Given the description of an element on the screen output the (x, y) to click on. 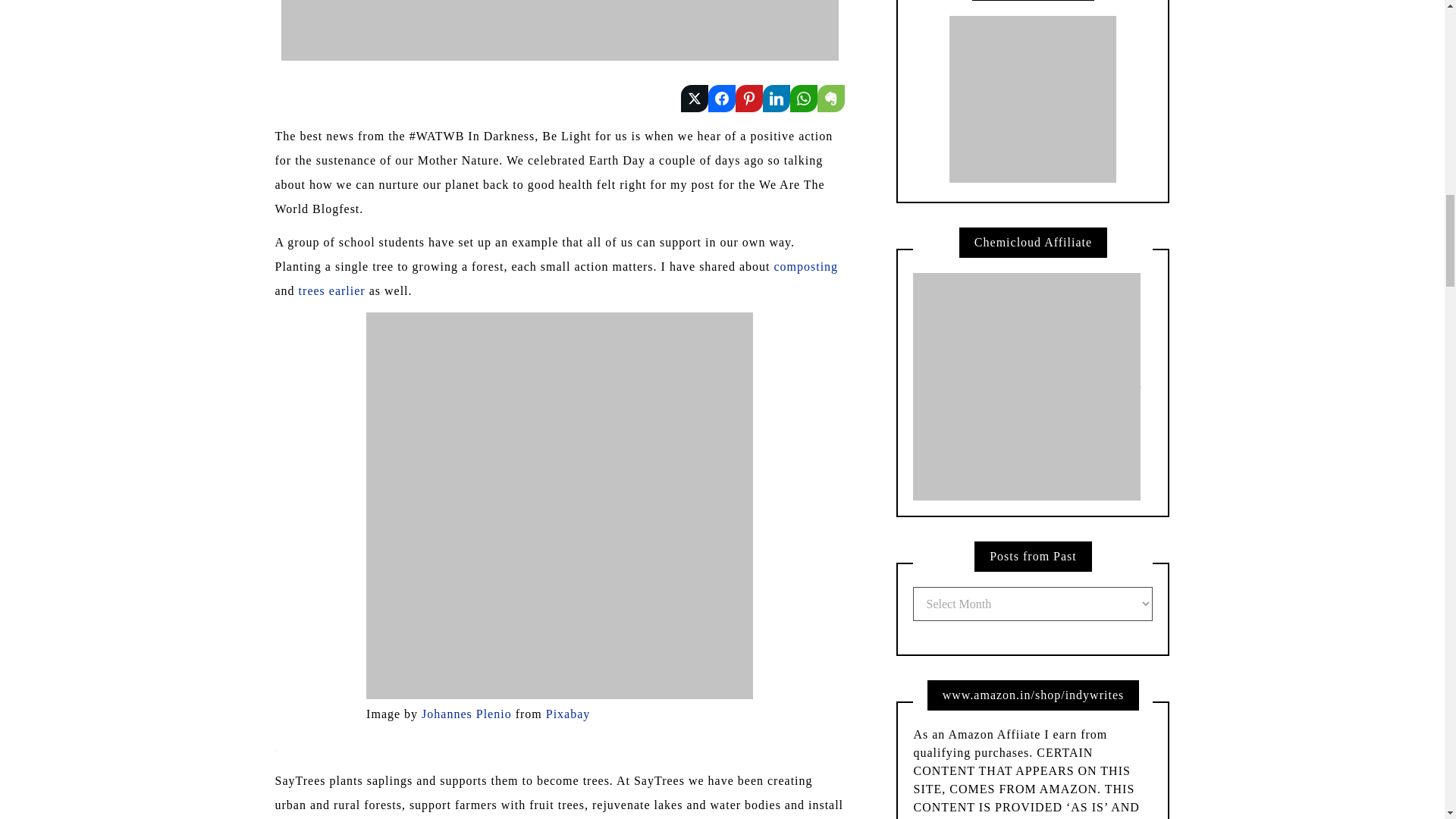
Share on Indywrites (748, 98)
Johannes Plenio (467, 713)
Share on Evernote (830, 98)
composting (805, 266)
Share on WhatsApp (803, 98)
Share on Indywrites (776, 98)
Pixabay (568, 713)
trees earlier (331, 290)
Share on InderpreetUppal (721, 98)
Share on indywrites (694, 98)
